Given the description of an element on the screen output the (x, y) to click on. 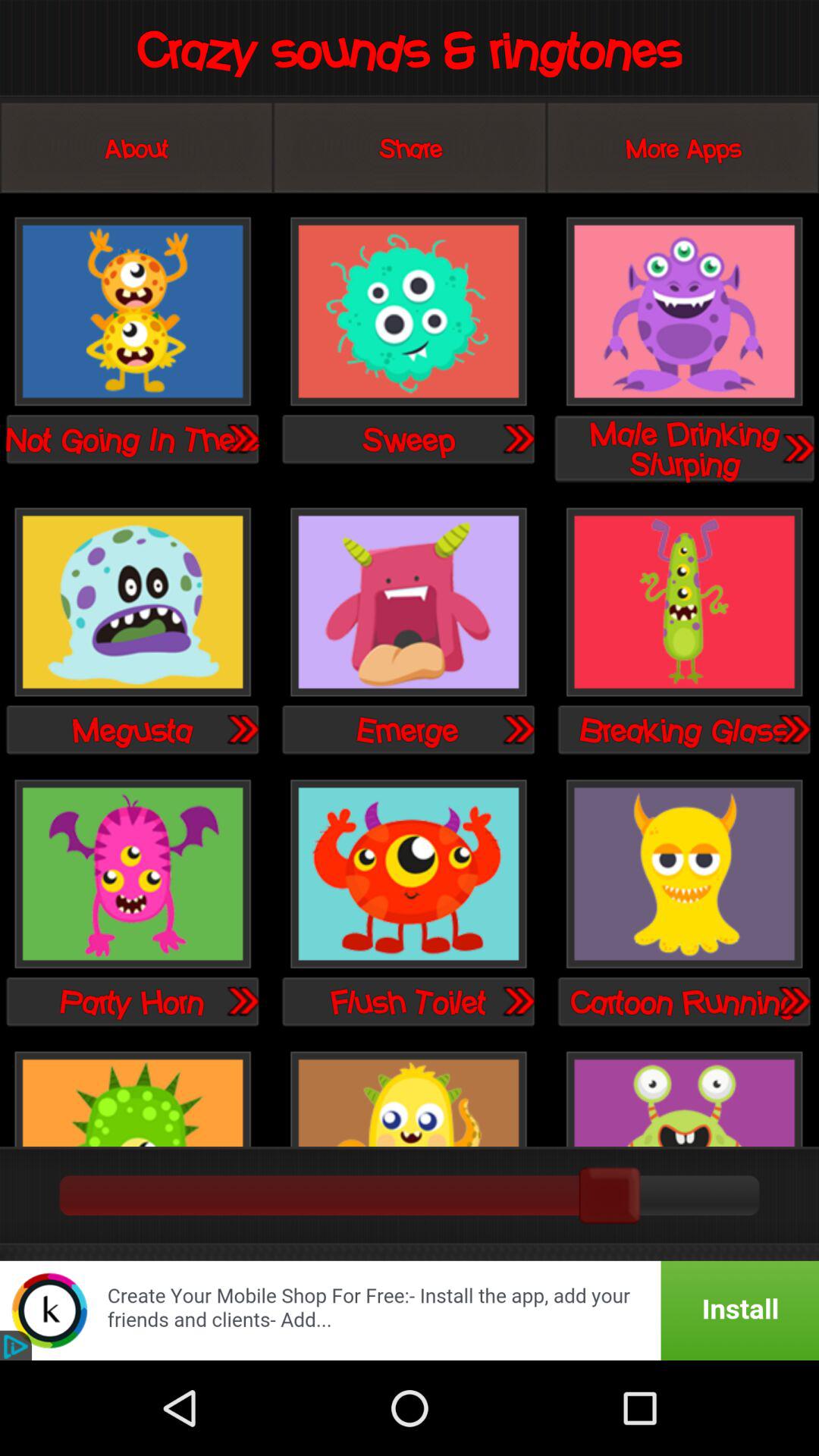
select tune (242, 438)
